Given the description of an element on the screen output the (x, y) to click on. 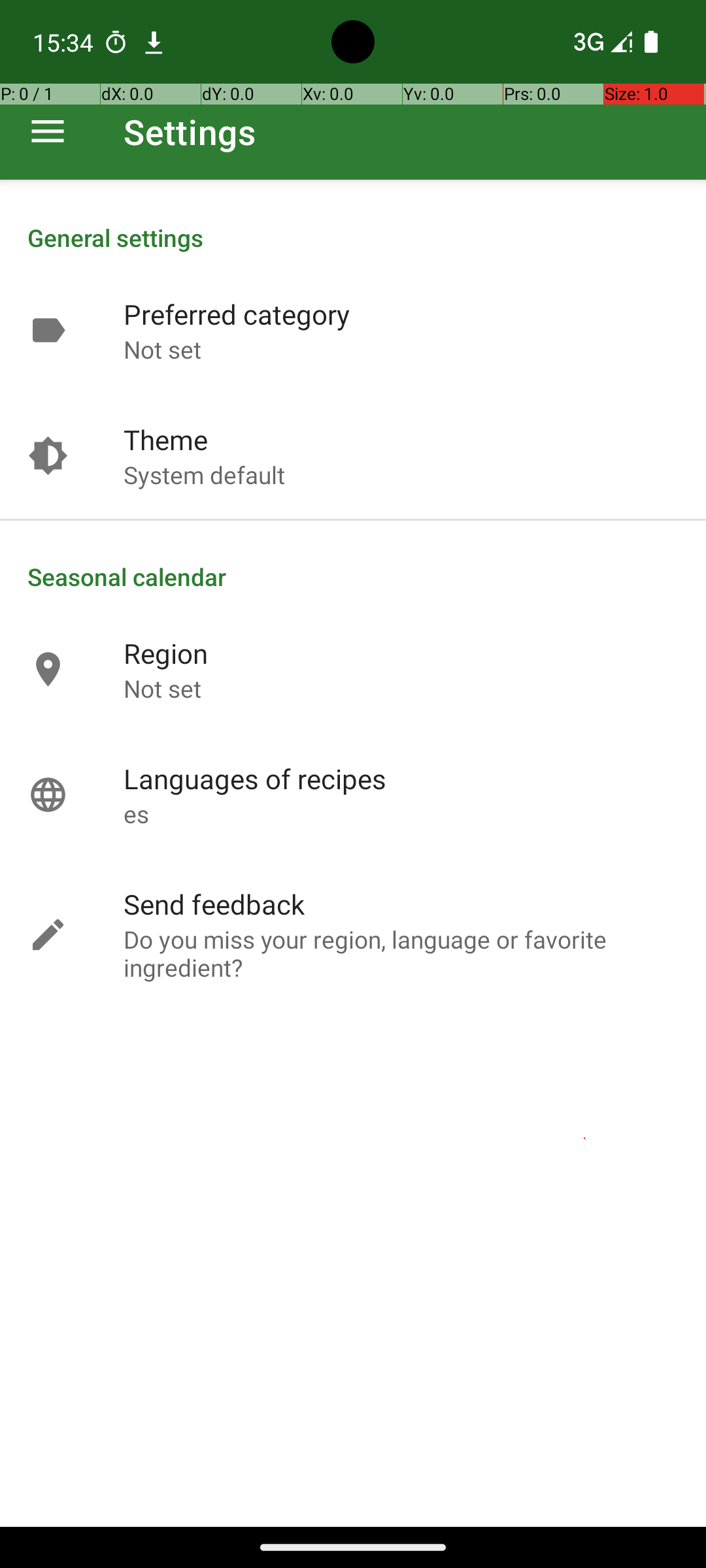
General settings Element type: android.widget.TextView (352, 237)
Preferred category Element type: android.widget.TextView (236, 313)
Not set Element type: android.widget.TextView (162, 348)
Region Element type: android.widget.TextView (165, 652)
Languages of recipes Element type: android.widget.TextView (254, 778)
es Element type: android.widget.TextView (136, 813)
Do you miss your region, language or favorite ingredient? Element type: android.widget.TextView (400, 976)
